Given the description of an element on the screen output the (x, y) to click on. 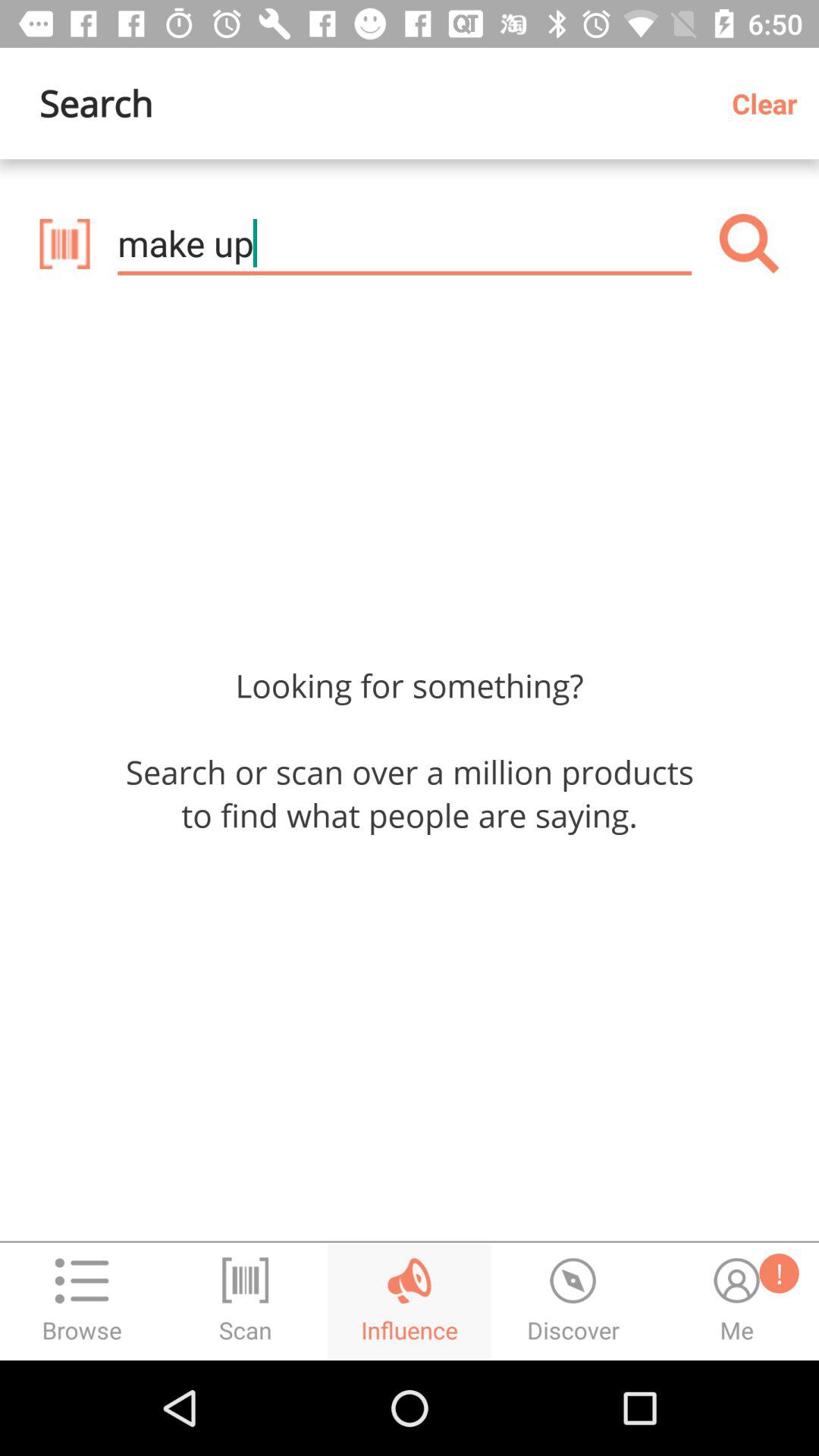
click item above looking for something item (404, 243)
